Given the description of an element on the screen output the (x, y) to click on. 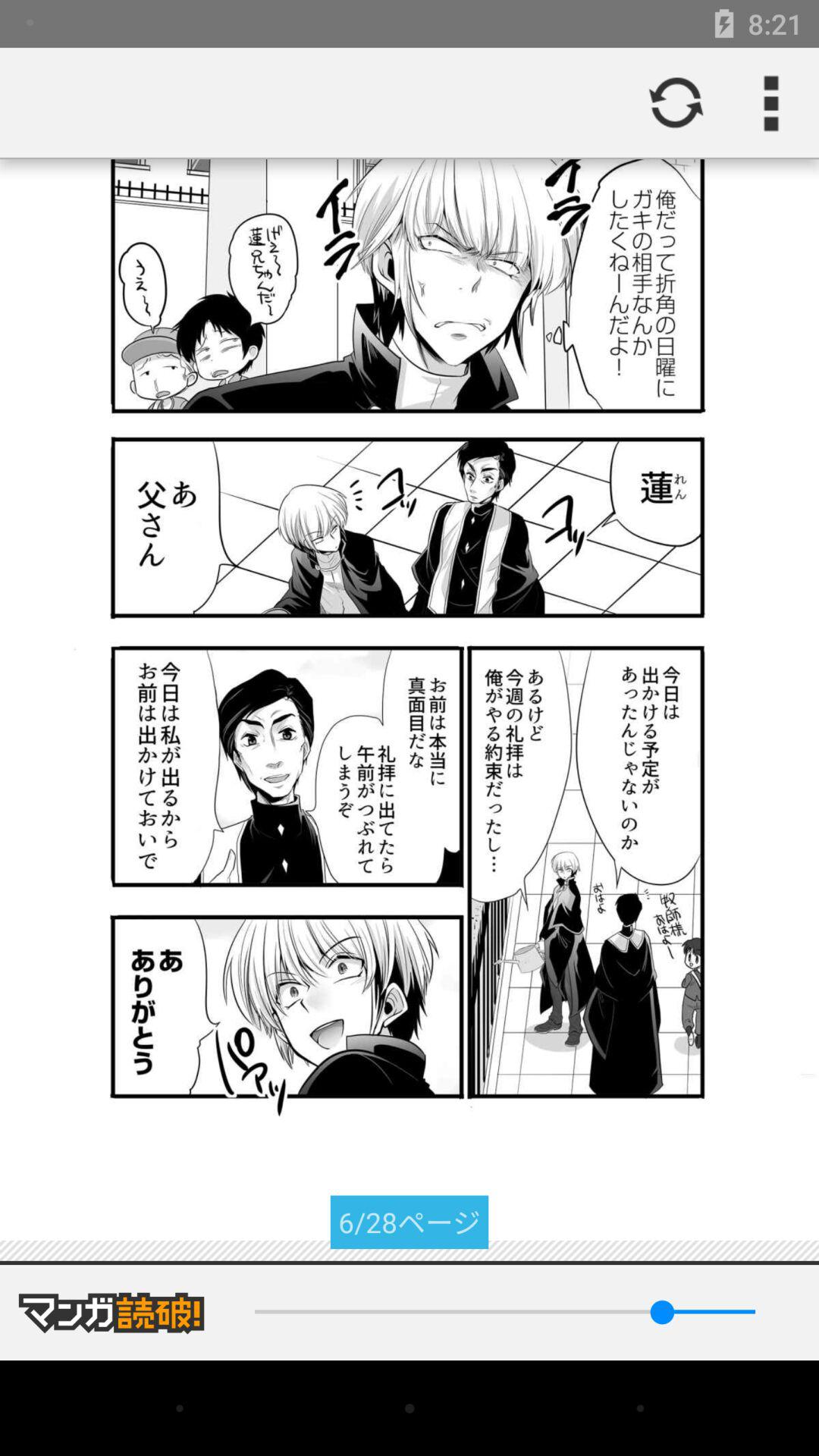
turn on the icon at the bottom left corner (111, 1312)
